Given the description of an element on the screen output the (x, y) to click on. 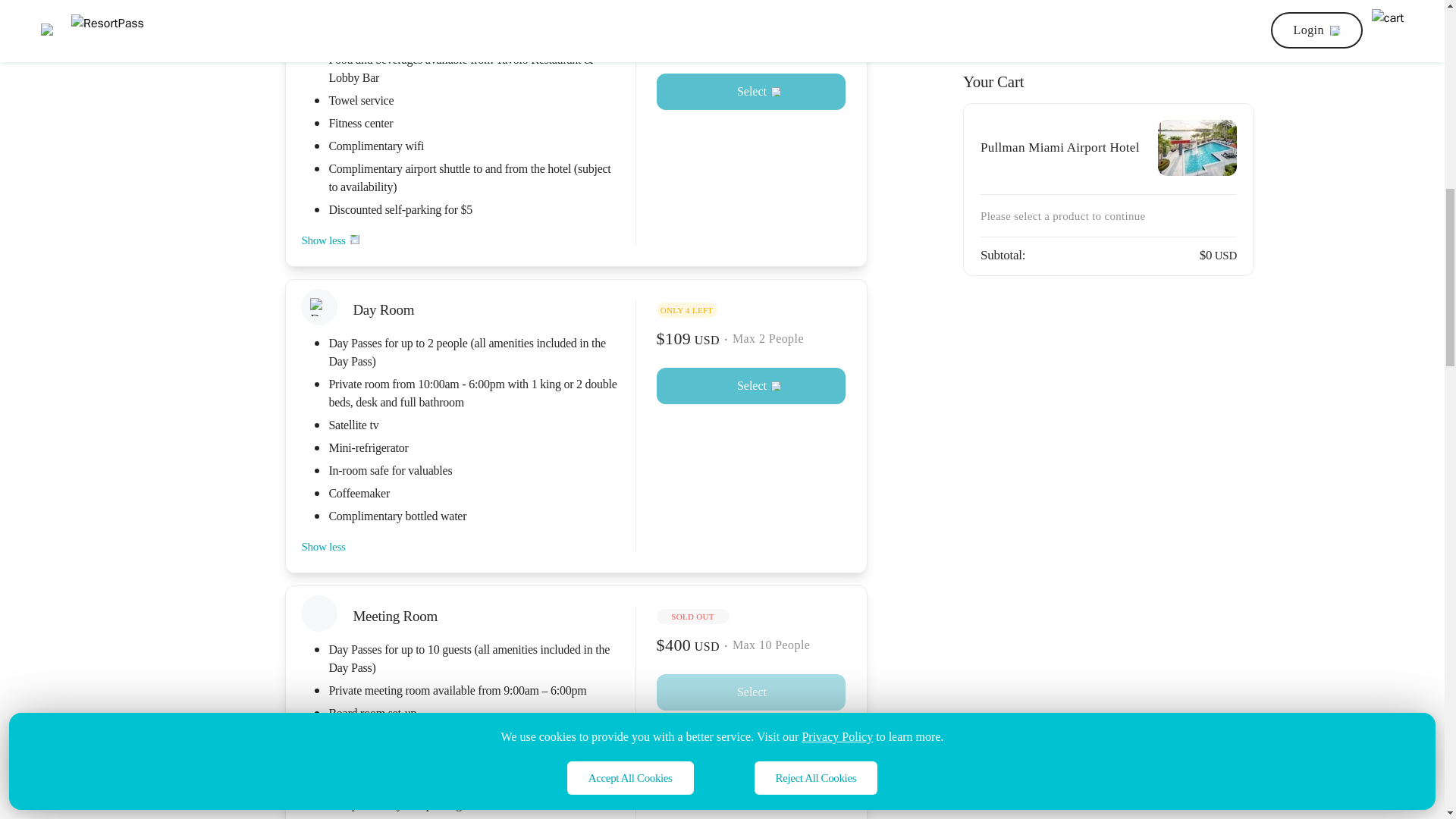
Select (750, 91)
Select (750, 385)
Select (750, 692)
